Given the description of an element on the screen output the (x, y) to click on. 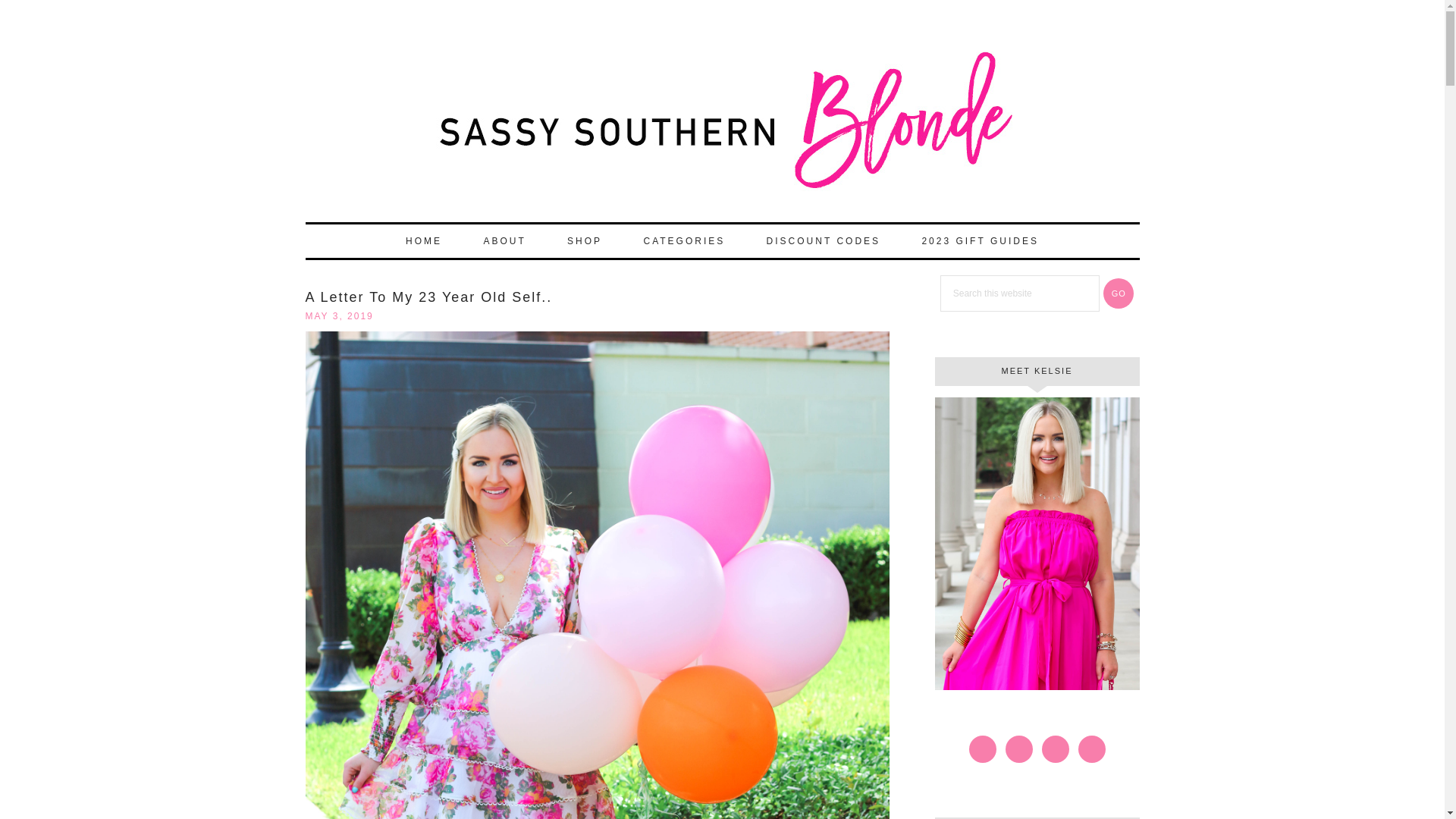
CATEGORIES (683, 240)
GO (1118, 293)
ABOUT (503, 240)
Sassy Southern Blonde (721, 128)
SHOP (584, 240)
GO (1118, 293)
2023 GIFT GUIDES (978, 240)
HOME (423, 240)
DISCOUNT CODES (823, 240)
A Letter To My 23 Year Old Self.. (427, 296)
